Given the description of an element on the screen output the (x, y) to click on. 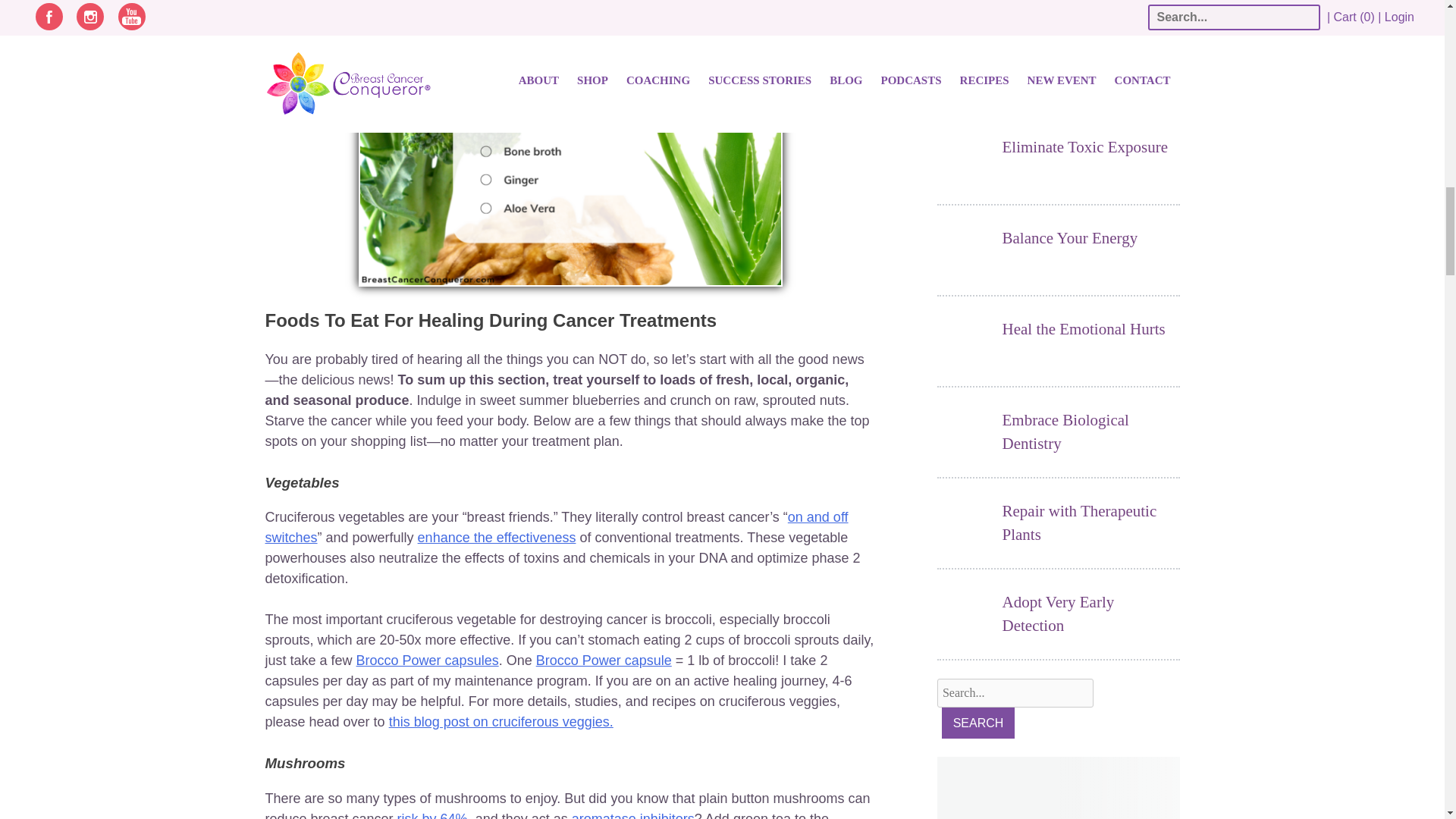
Brocco Power capsule (603, 660)
enhance the effectiveness (496, 537)
aromatase inhibitors (633, 815)
this blog post on cruciferous veggies. (500, 721)
Search (978, 722)
Brocco Power capsules (427, 660)
on and off switches (556, 527)
